Given the description of an element on the screen output the (x, y) to click on. 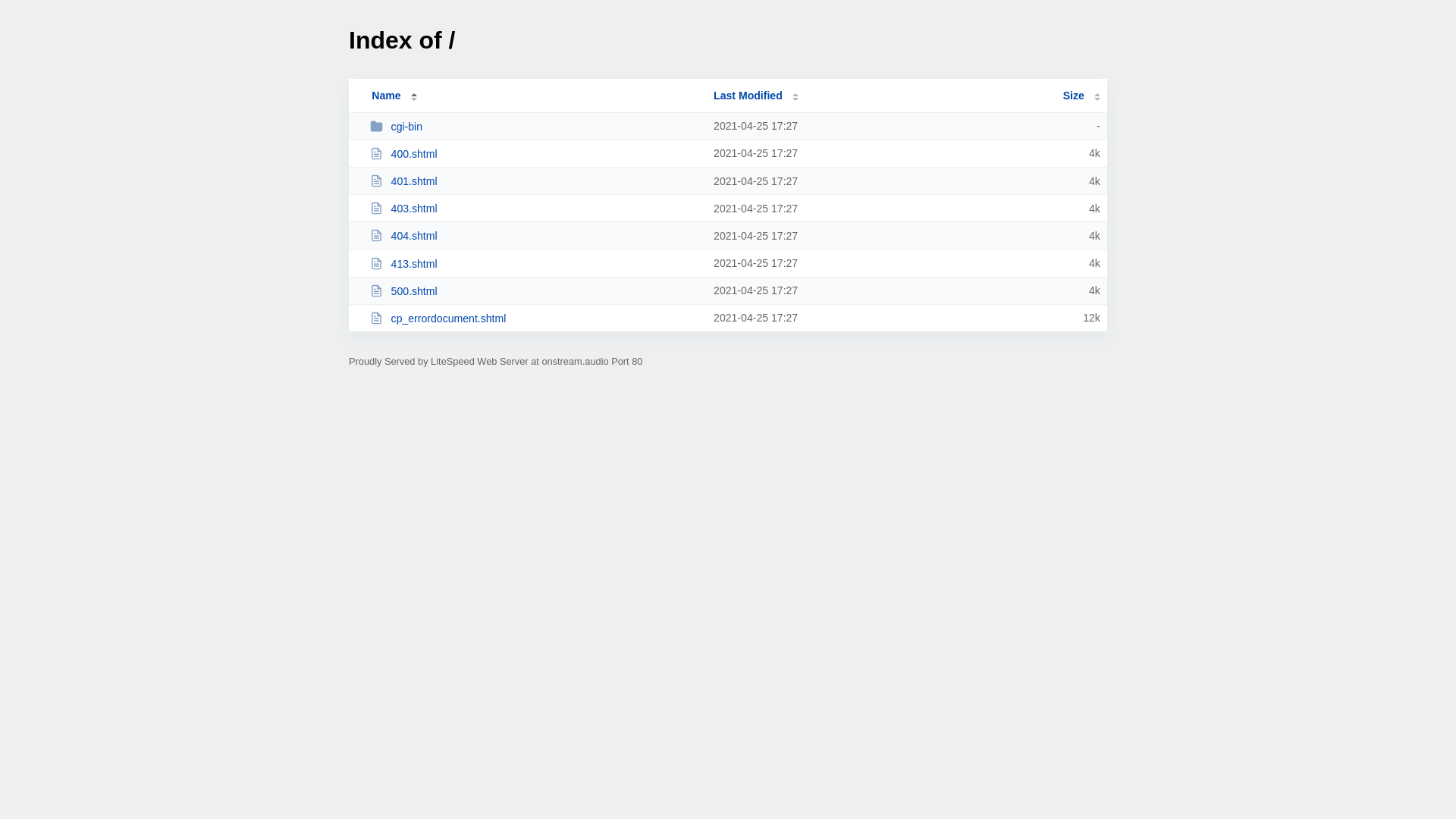
404.shtml Element type: text (534, 235)
400.shtml Element type: text (534, 153)
cgi-bin Element type: text (534, 125)
500.shtml Element type: text (534, 290)
cp_errordocument.shtml Element type: text (534, 317)
403.shtml Element type: text (534, 207)
413.shtml Element type: text (534, 263)
Size Element type: text (1081, 95)
401.shtml Element type: text (534, 180)
Last Modified Element type: text (755, 95)
Name Element type: text (385, 95)
